Given the description of an element on the screen output the (x, y) to click on. 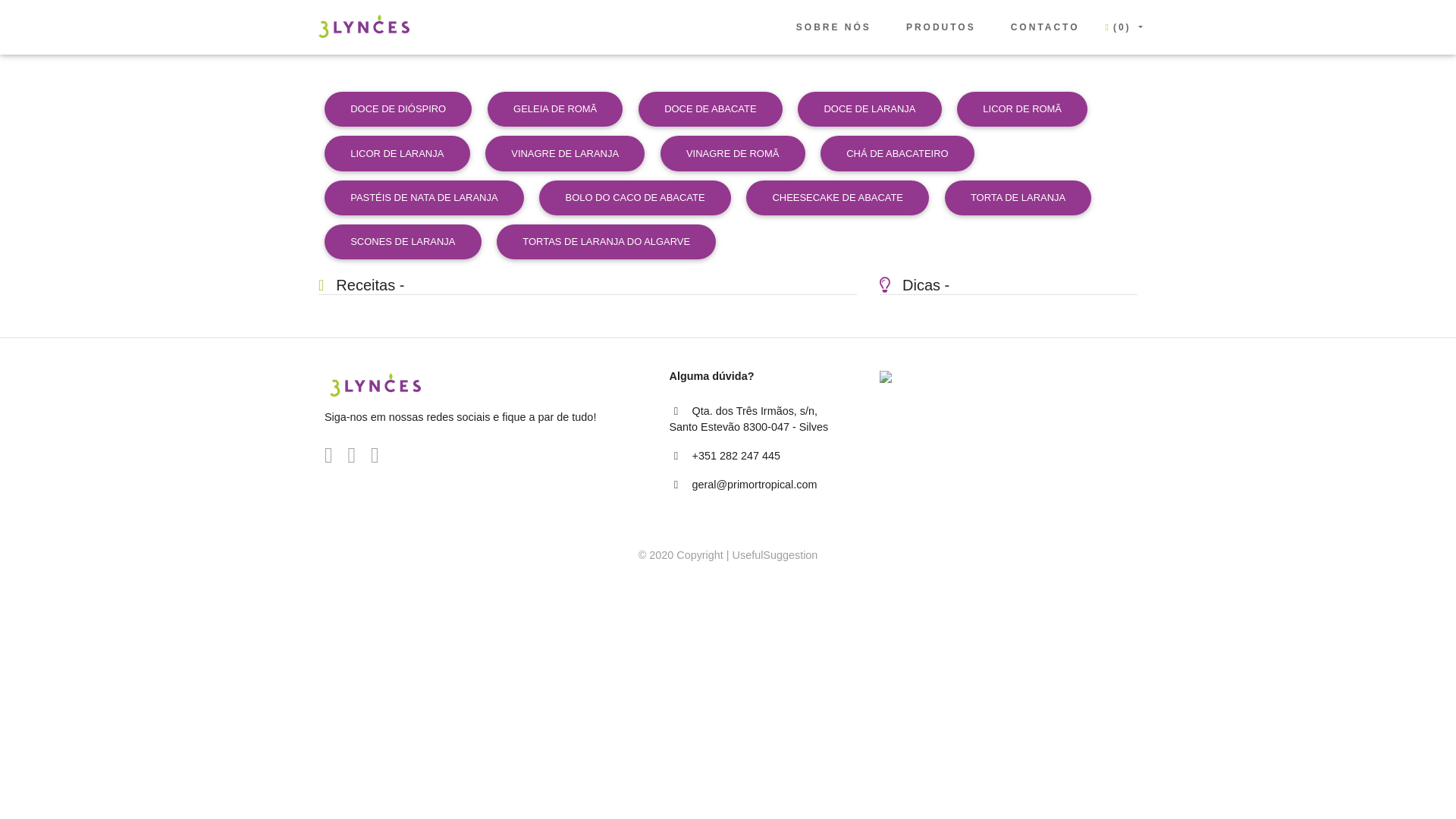
CHEESECAKE DE ABACATE Element type: text (837, 197)
UsefulSuggestion Element type: text (775, 555)
geral@primortropical.com Element type: text (753, 484)
TORTA DE LARANJA Element type: text (1018, 197)
DOCE DE ABACATE Element type: text (710, 108)
BOLO DO CACO DE ABACATE Element type: text (635, 197)
DOCE DE LARANJA Element type: text (869, 108)
+351 282 247 445 Element type: text (735, 455)
VINAGRE DE LARANJA Element type: text (564, 152)
CONTACTO Element type: text (1044, 27)
TORTAS DE LARANJA DO ALGARVE Element type: text (605, 241)
LICOR DE LARANJA Element type: text (397, 152)
SCONES DE LARANJA Element type: text (402, 241)
(0) Element type: text (1122, 27)
PRODUTOS Element type: text (941, 27)
